Given the description of an element on the screen output the (x, y) to click on. 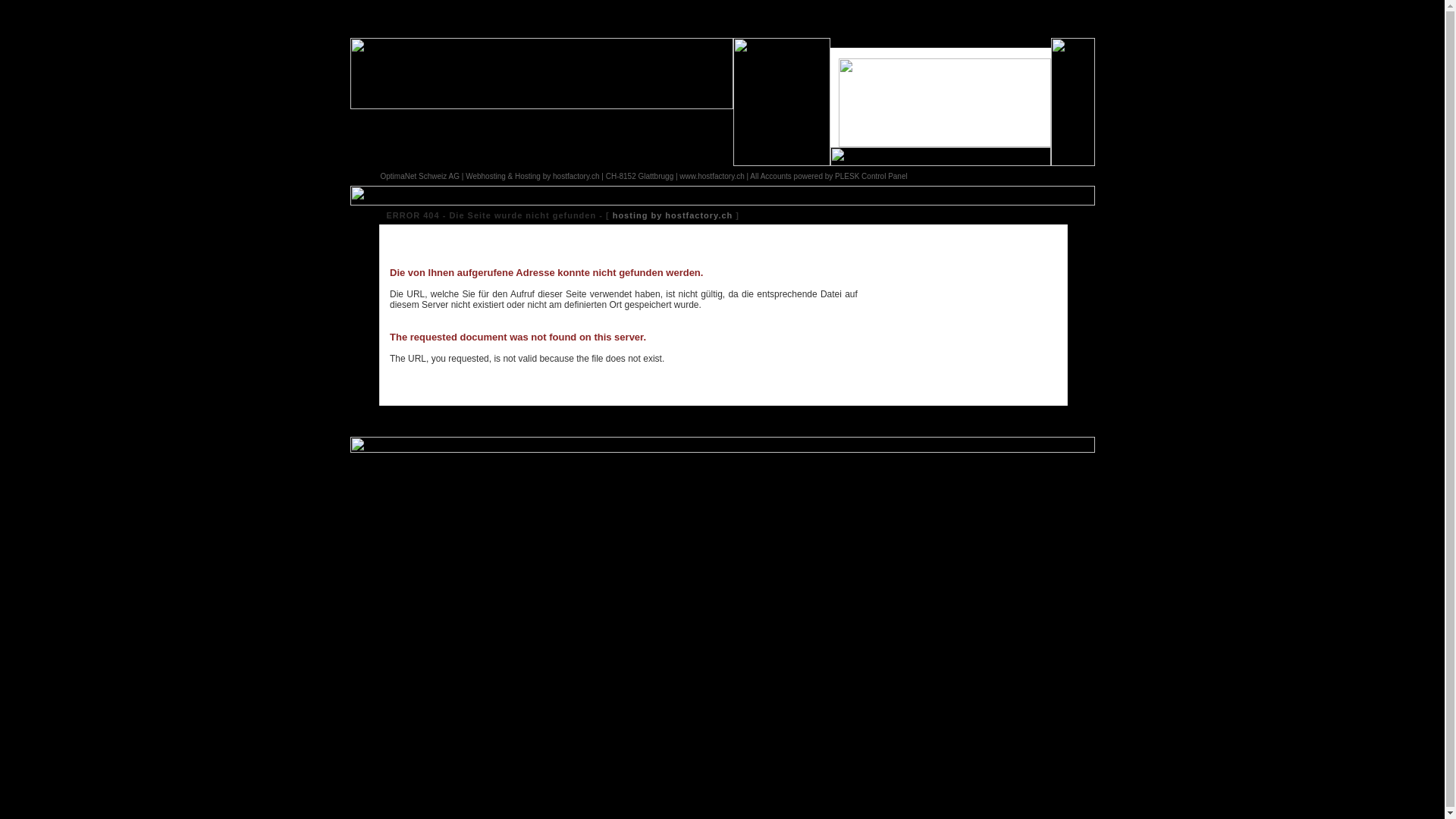
hosting by hostfactory.ch Element type: text (672, 214)
Hosting Element type: text (527, 175)
Webhosting Element type: text (485, 175)
